Given the description of an element on the screen output the (x, y) to click on. 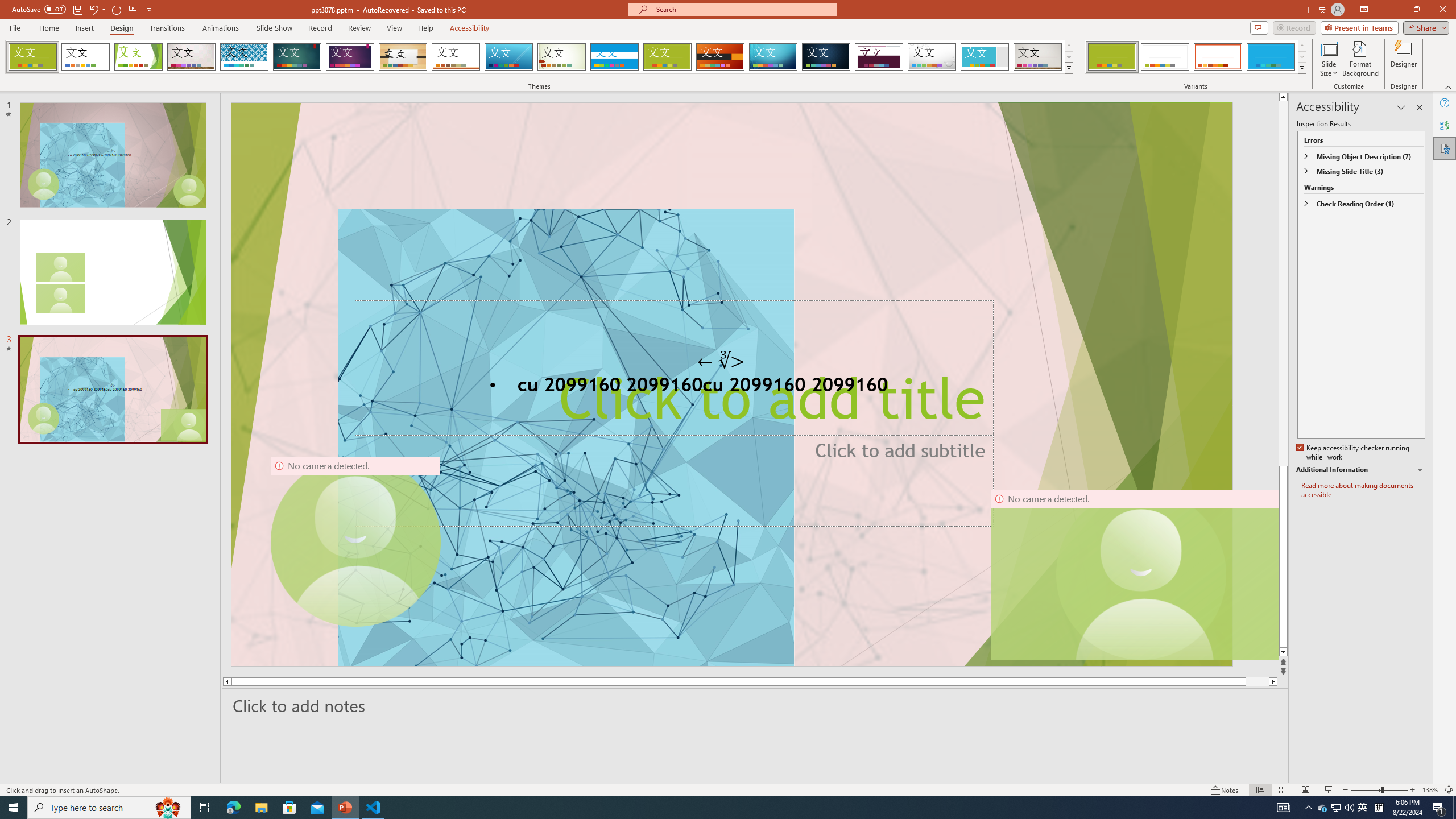
Basis Variant 1 (1112, 56)
Ion (296, 56)
